Given the description of an element on the screen output the (x, y) to click on. 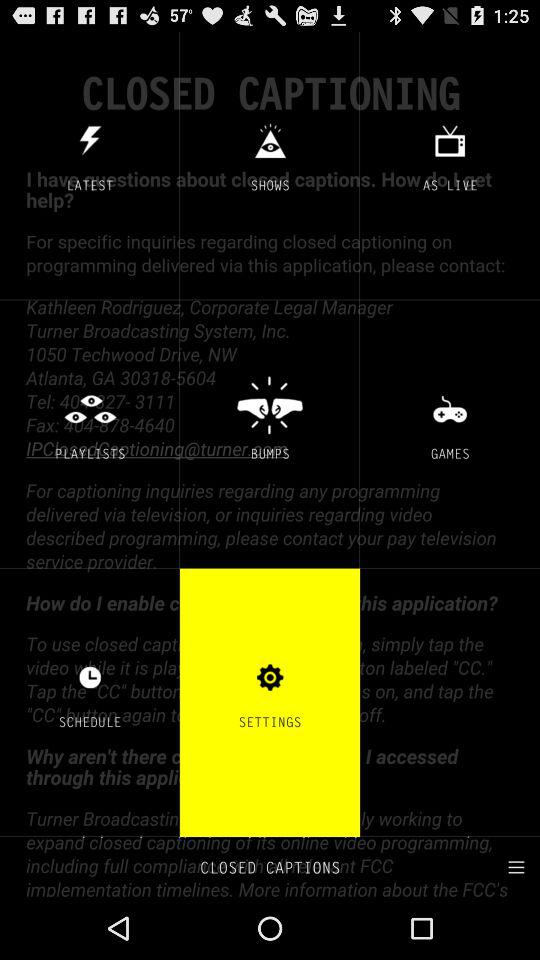
click on icon above latest at top left corner (90, 139)
click on icon above schedule at bottom left corner (90, 677)
select  (508, 866)
select the icon on above the button as live on the web page (449, 139)
